Given the description of an element on the screen output the (x, y) to click on. 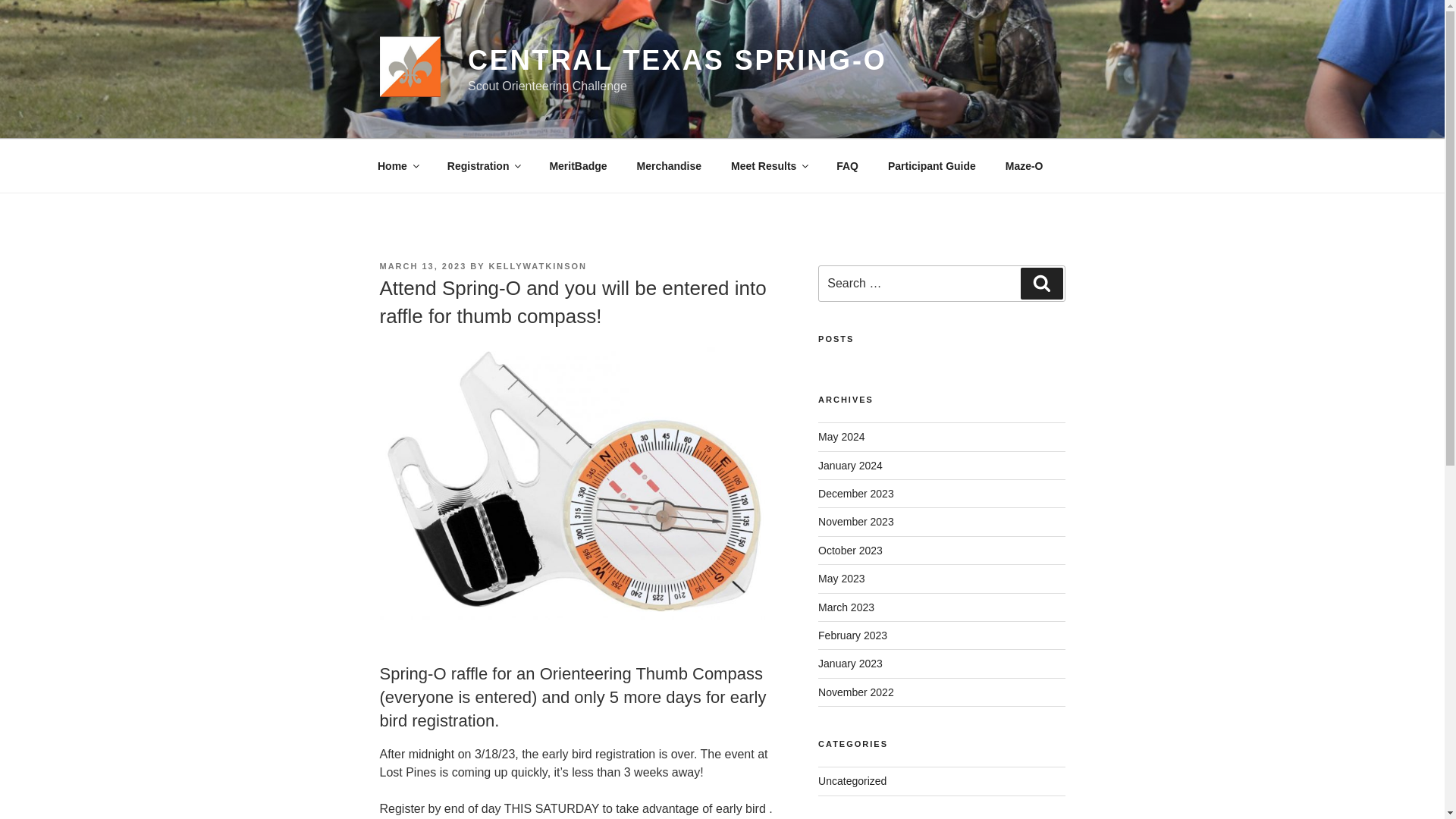
Search (1041, 283)
Home (397, 165)
December 2023 (855, 493)
Meet Results (768, 165)
Participant Guide (931, 165)
March 2023 (846, 606)
November 2023 (855, 521)
May 2023 (841, 578)
Maze-O (1024, 165)
October 2023 (850, 550)
